Given the description of an element on the screen output the (x, y) to click on. 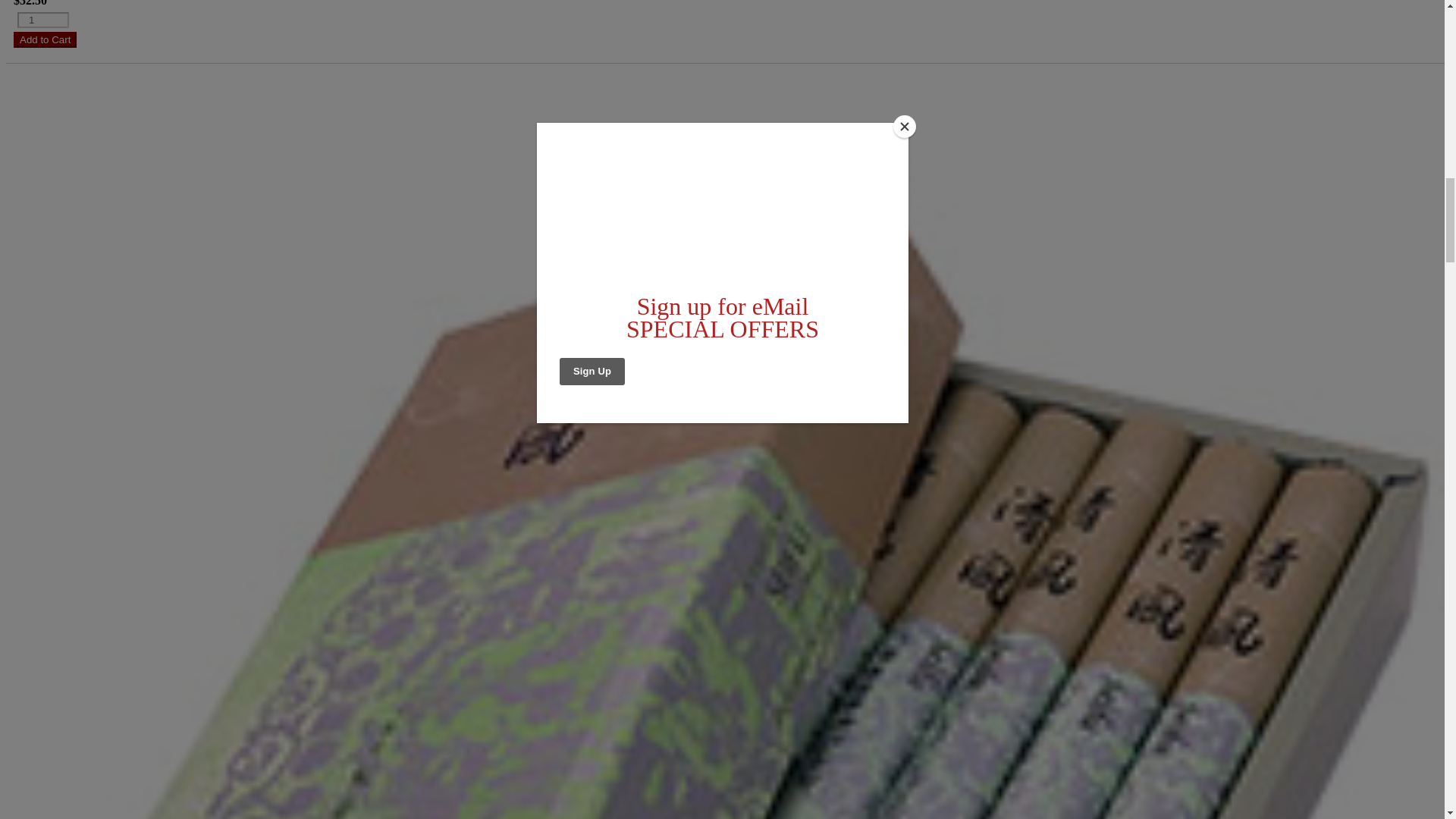
1 (42, 19)
Add to Cart (45, 39)
